Given the description of an element on the screen output the (x, y) to click on. 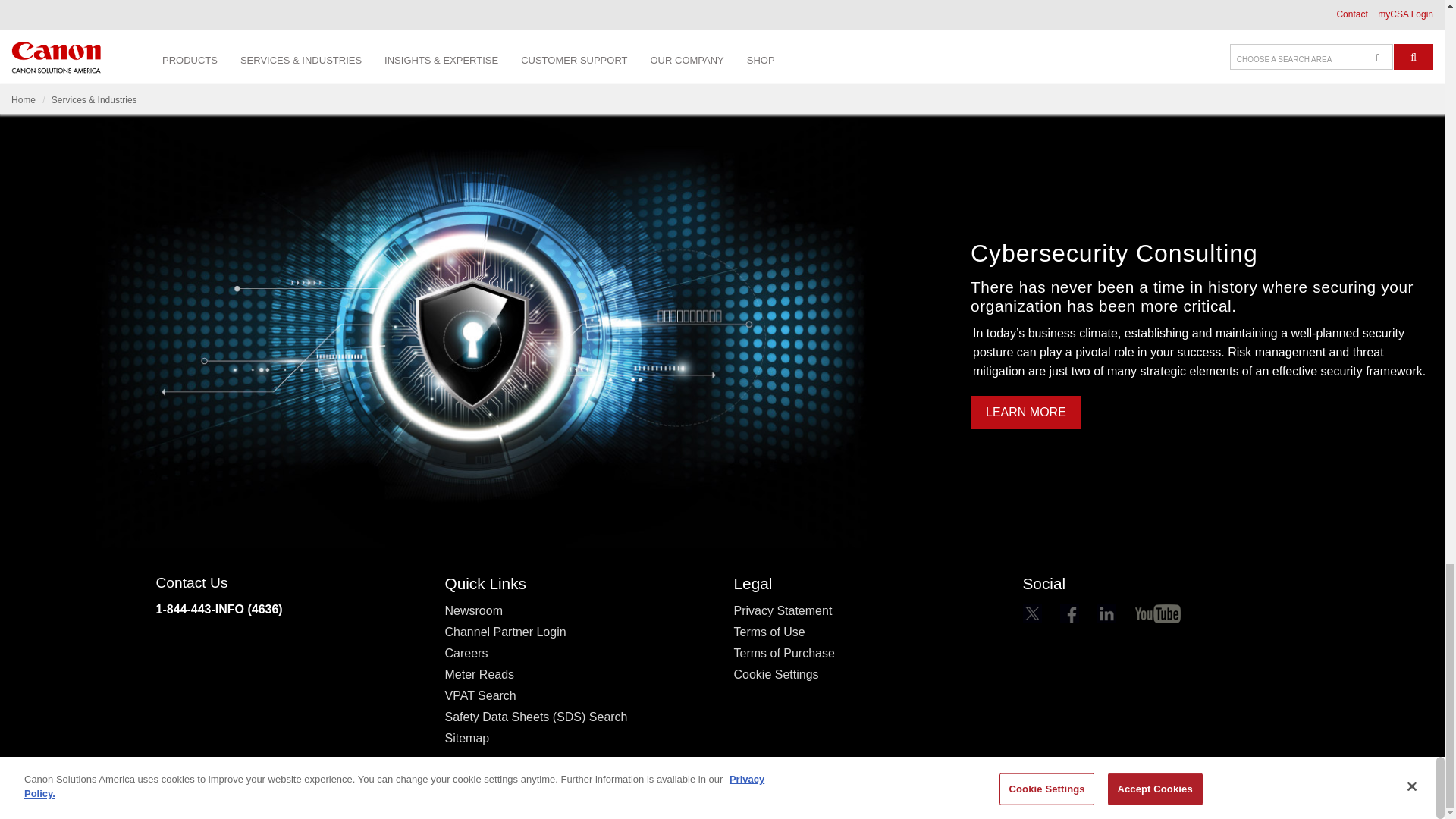
Facebook (1068, 613)
Twitter (1031, 613)
YouTube (1157, 613)
LinkedIn (1106, 613)
